Given the description of an element on the screen output the (x, y) to click on. 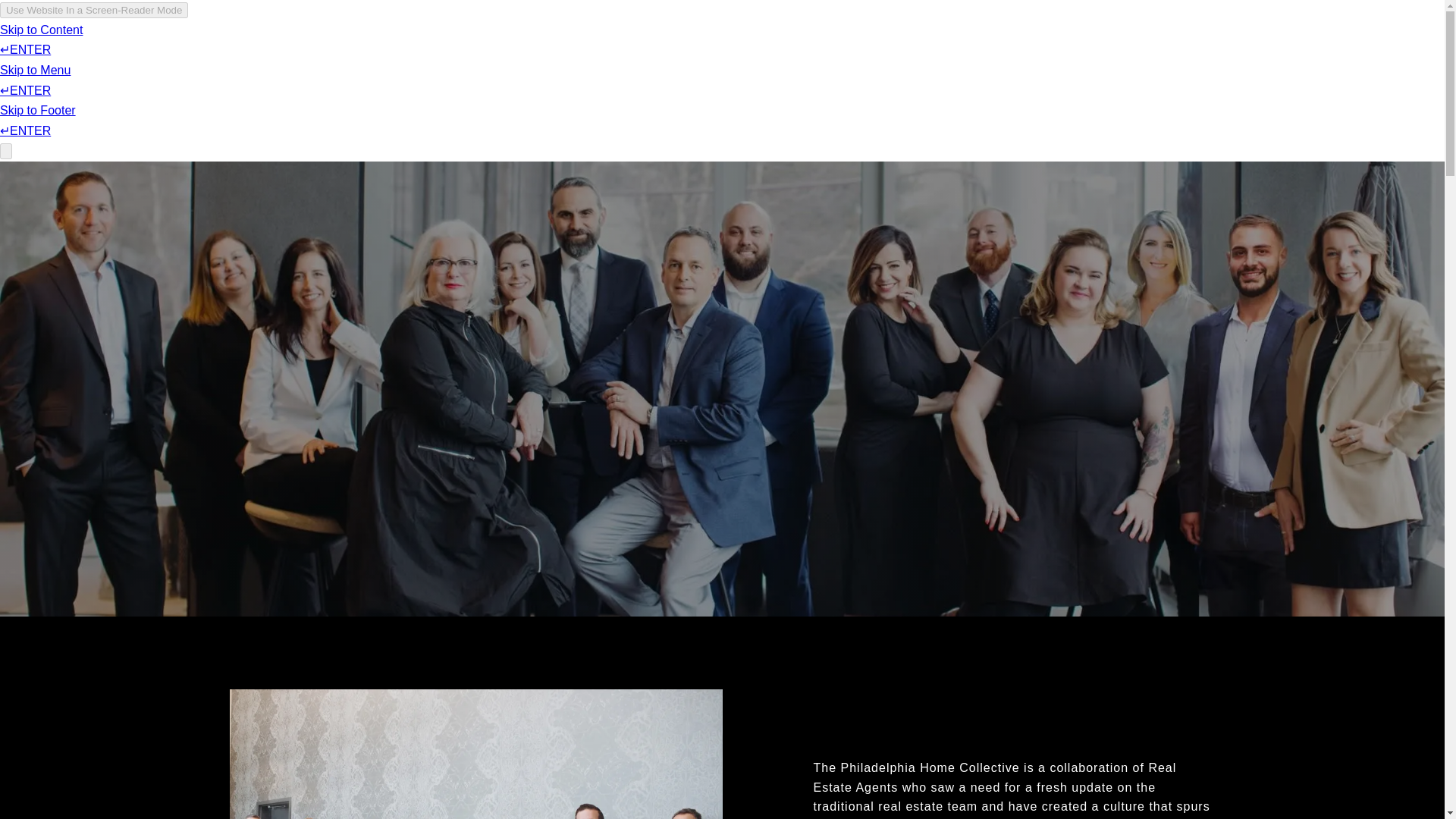
BUY (815, 55)
HOME STORIES (1056, 55)
CONTACT US (1157, 55)
MEET THE TEAM (944, 55)
SELL (862, 55)
